Given the description of an element on the screen output the (x, y) to click on. 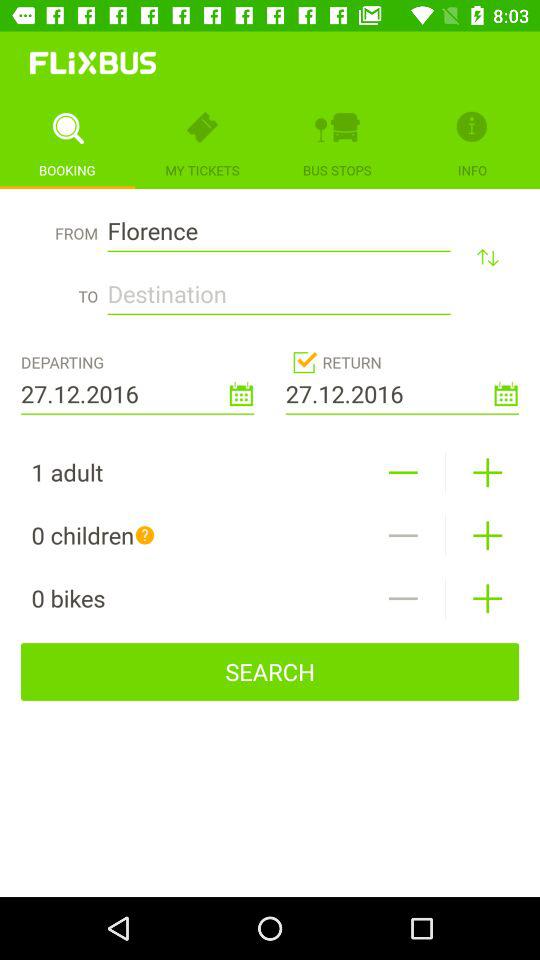
remove 1 bike (402, 598)
